Given the description of an element on the screen output the (x, y) to click on. 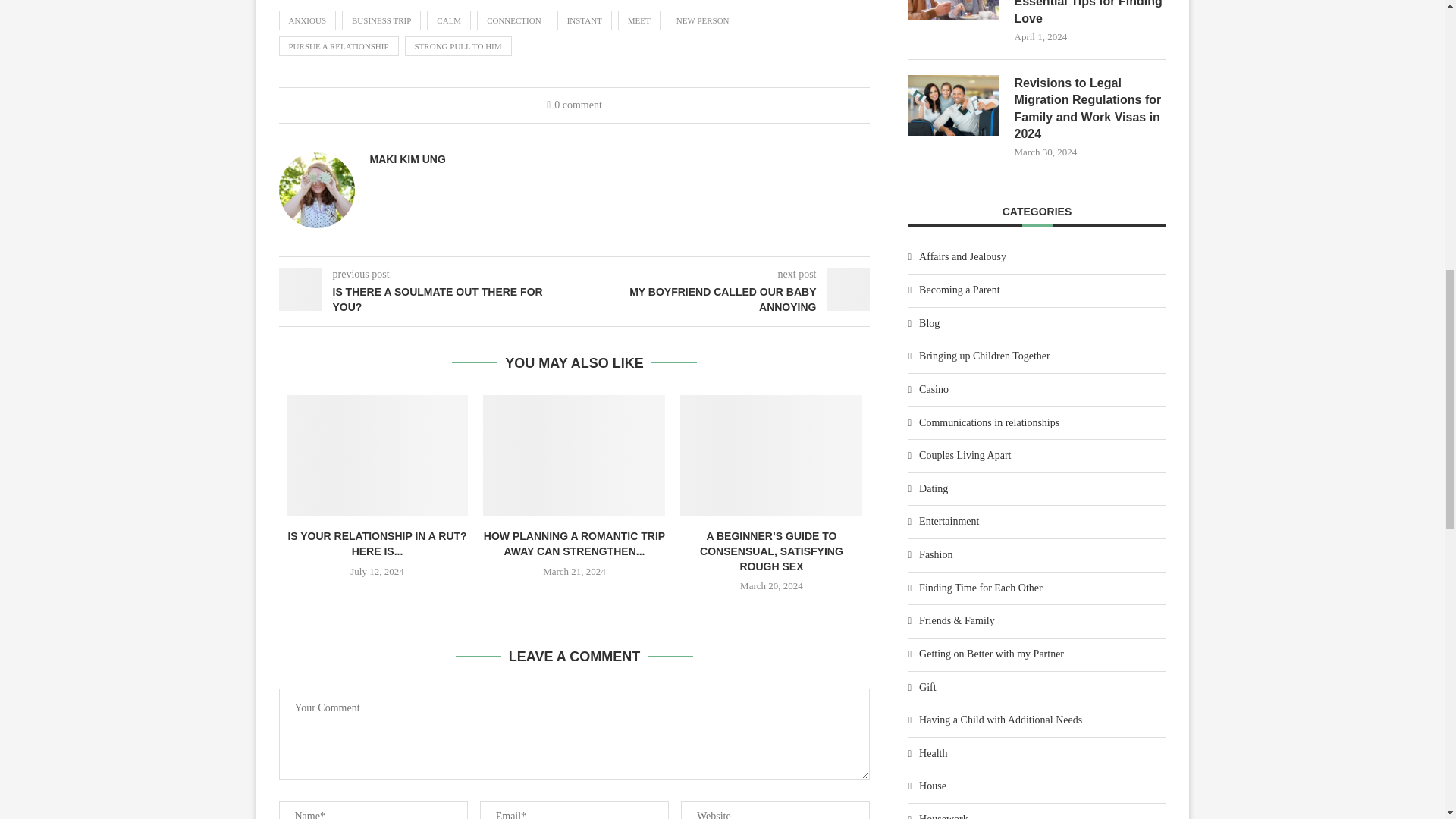
MEET (639, 20)
INSTANT (584, 20)
MAKI KIM UNG (407, 159)
NEW PERSON (702, 20)
IS THERE A SOULMATE OUT THERE FOR YOU? (427, 299)
BUSINESS TRIP (381, 20)
Author Maki kim ung (407, 159)
MY BOYFRIEND CALLED OUR BABY ANNOYING (722, 299)
IS YOUR RELATIONSHIP IN A RUT? HERE IS... (375, 543)
STRONG PULL TO HIM (458, 46)
CONNECTION (514, 20)
ANXIOUS (307, 20)
CALM (448, 20)
